Given the description of an element on the screen output the (x, y) to click on. 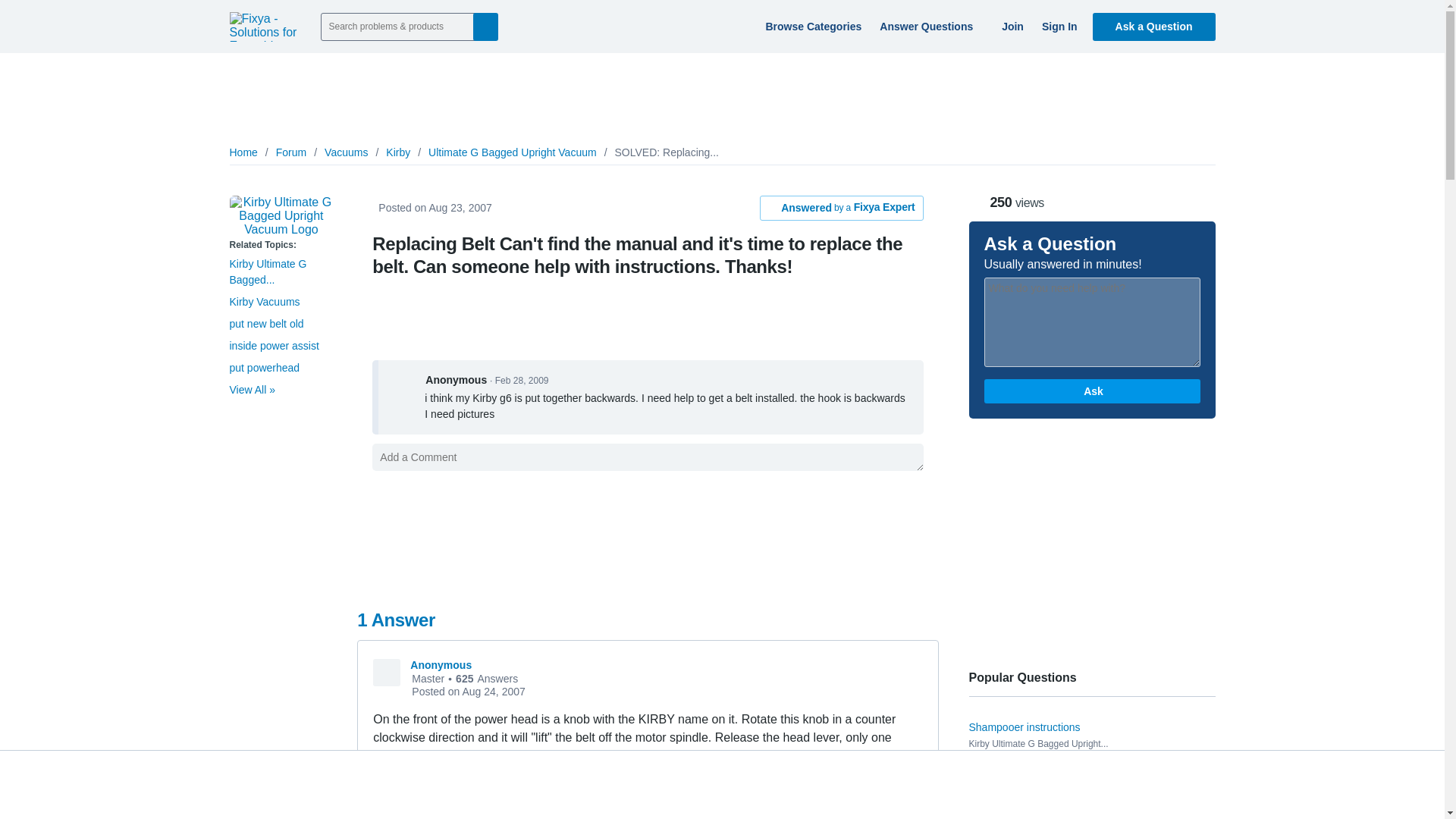
put new belt old (265, 323)
Kirby Ultimate G Bagged Upright Vacuum (280, 215)
put powerhead (263, 367)
Browse Categories (810, 26)
Kirby (397, 152)
Ultimate G Bagged Upright Vacuum (512, 152)
Ask (1091, 391)
Search Fixya (485, 26)
Kirby Vacuums (263, 301)
Search Fixya (485, 26)
Answer Questions (929, 26)
Home (242, 152)
inside power assist (273, 345)
Vacuums (346, 152)
Sign In (1056, 26)
